Given the description of an element on the screen output the (x, y) to click on. 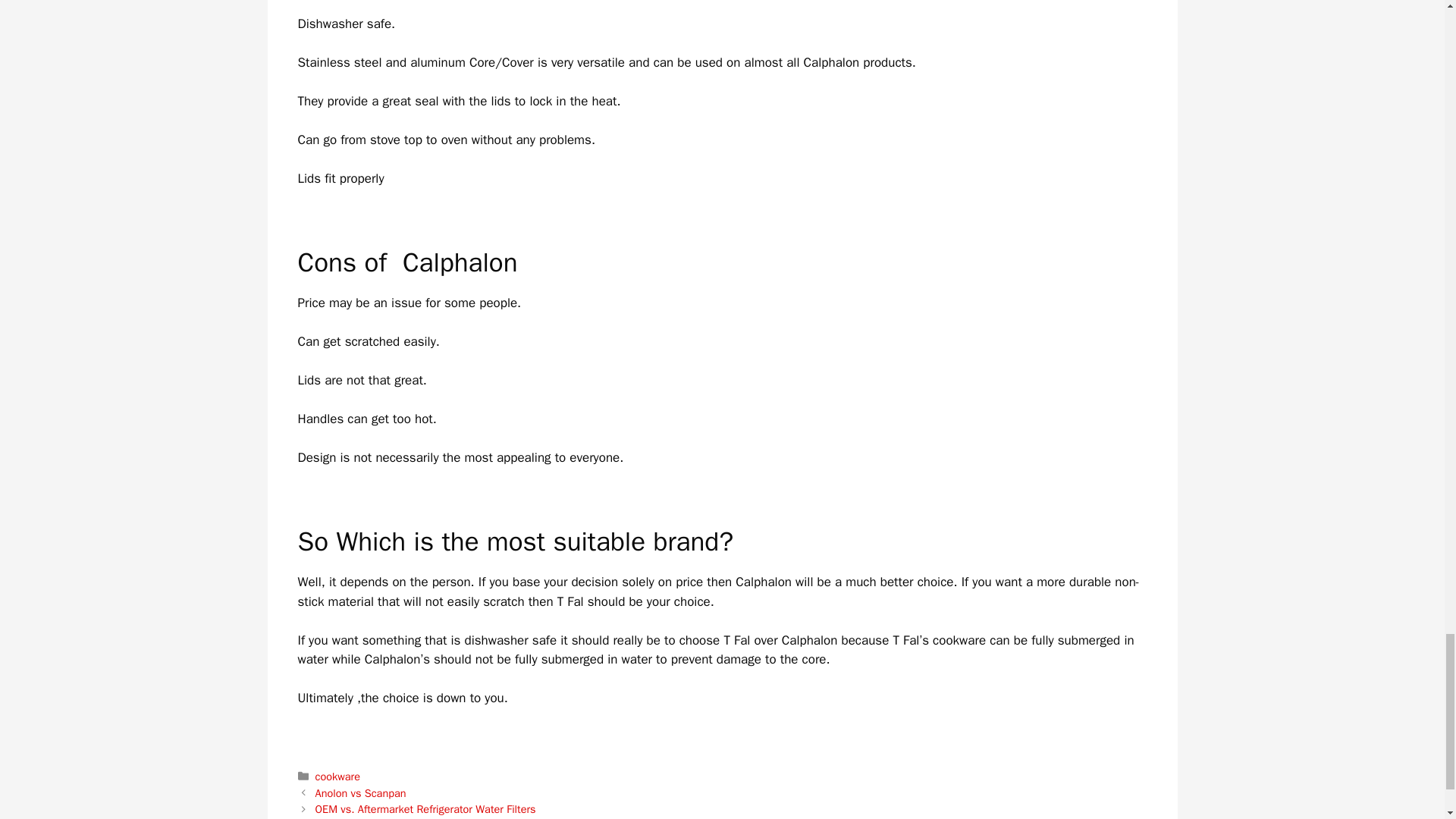
Anolon vs Scanpan (360, 793)
cookware (337, 775)
OEM vs. Aftermarket Refrigerator Water Filters (425, 808)
